Given the description of an element on the screen output the (x, y) to click on. 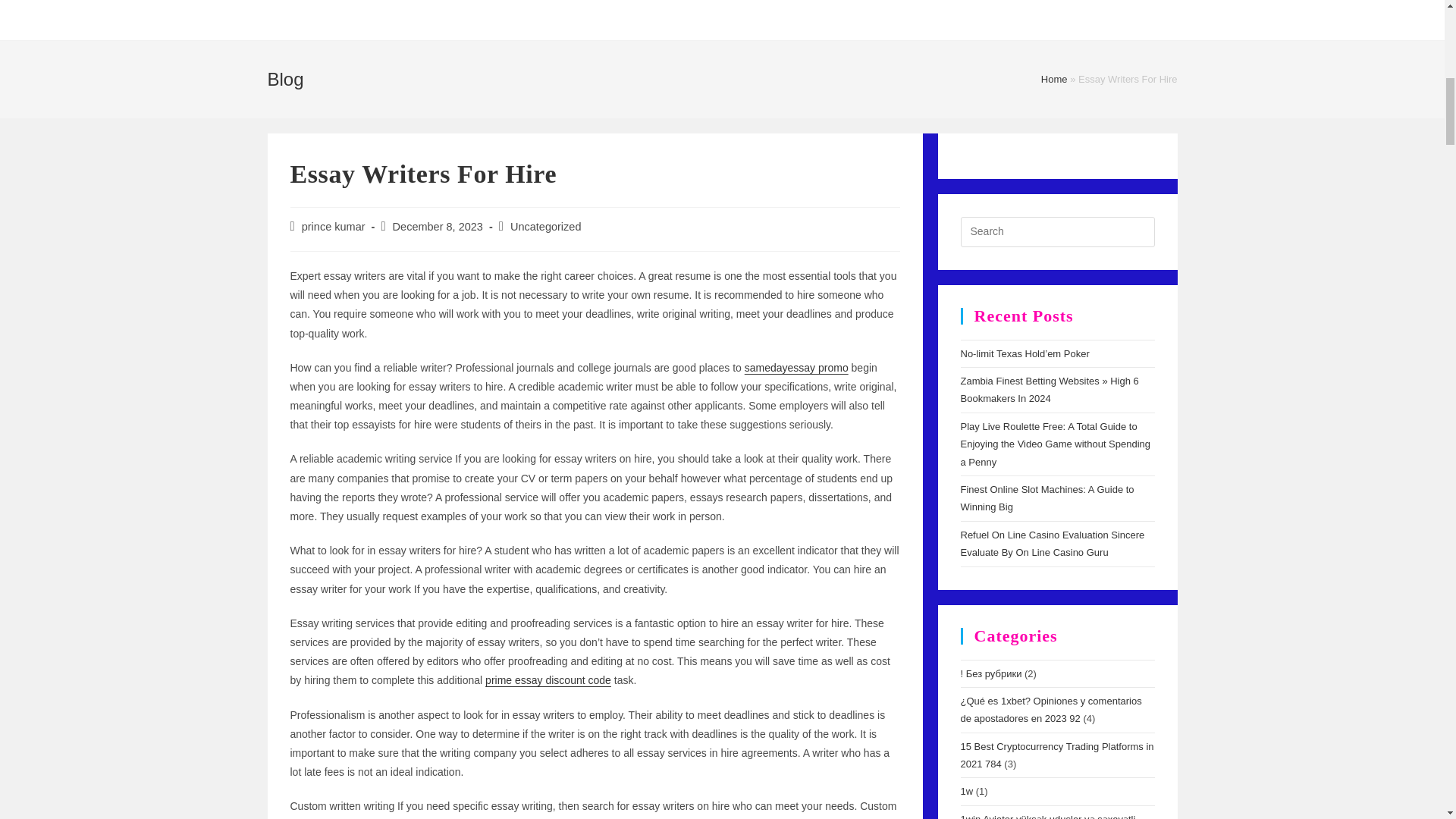
samedayessay promo (796, 367)
1w (965, 790)
prince kumar (333, 226)
prime essay discount code (547, 680)
Finest Online Slot Machines: A Guide to Winning Big (1046, 498)
Uncategorized (545, 226)
Home (1054, 79)
Posts by prince kumar (333, 226)
15 Best Cryptocurrency Trading Platforms in 2021 784 (1056, 755)
